Given the description of an element on the screen output the (x, y) to click on. 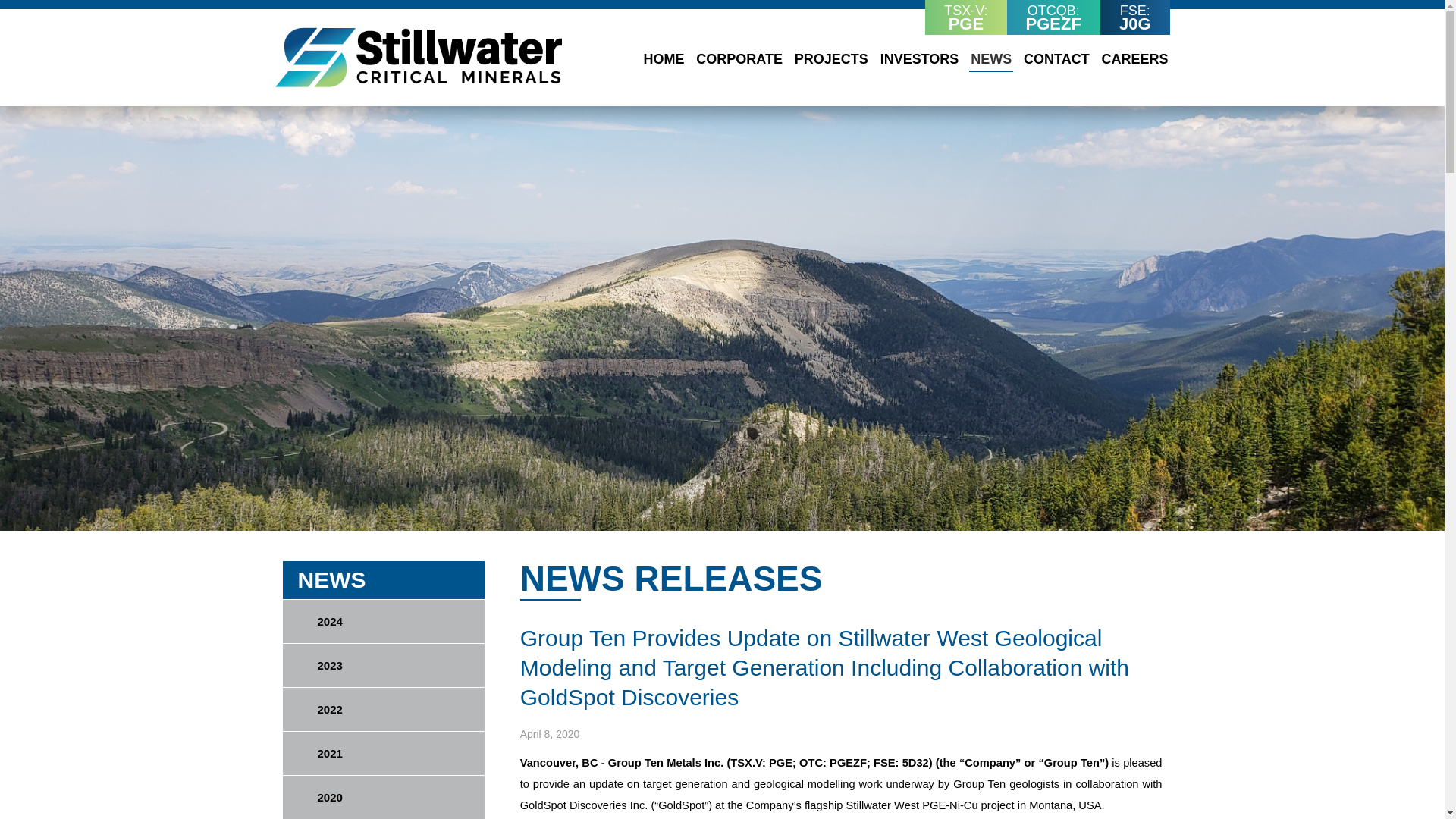
CONTACT (1056, 59)
CORPORATE (739, 59)
NEWS (991, 60)
INVESTORS (919, 59)
PROJECTS (831, 59)
HOME (663, 59)
